Given the description of an element on the screen output the (x, y) to click on. 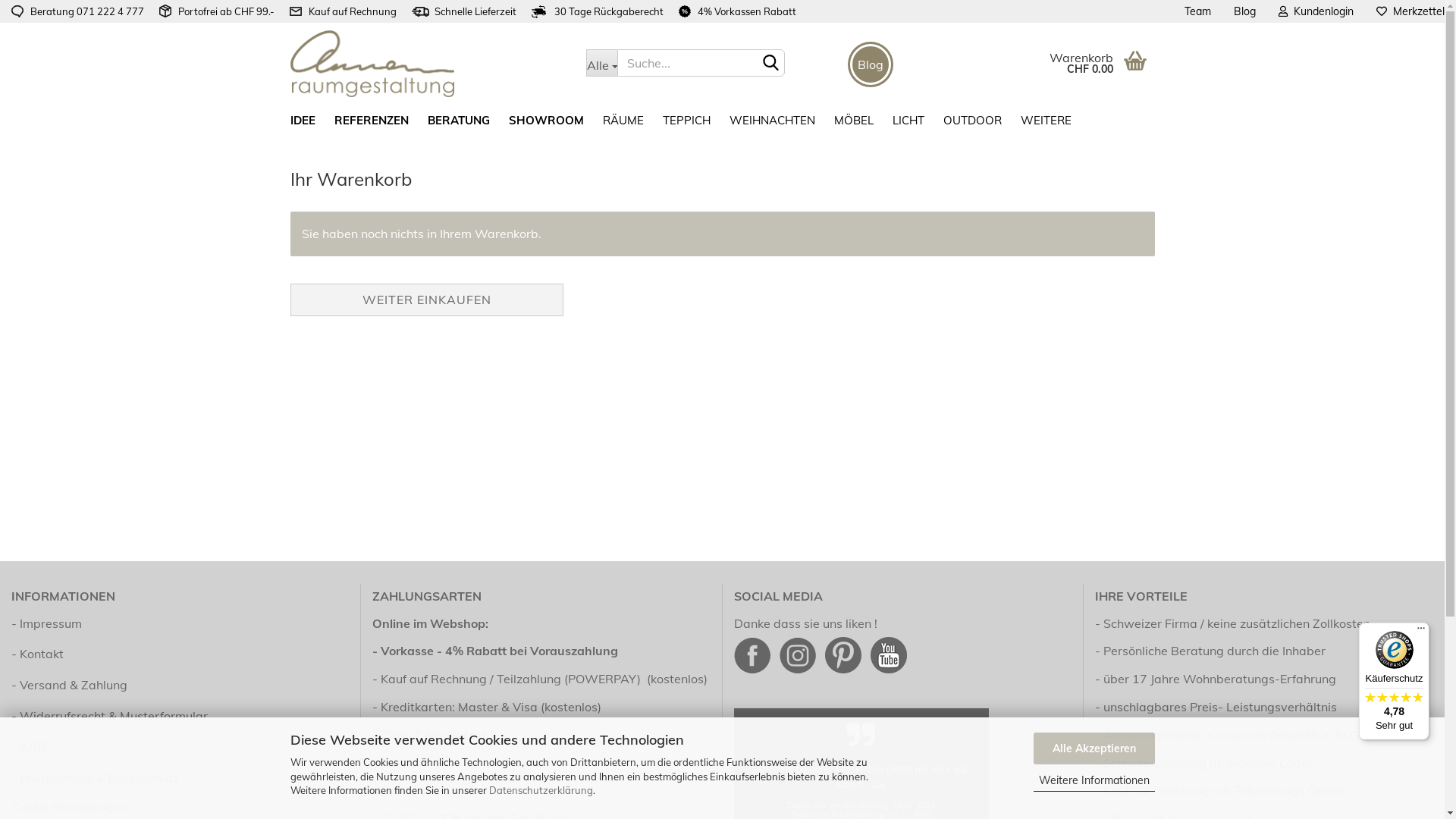
Instagram Element type: hover (797, 653)
Blog Element type: text (870, 64)
- Versand & Zahlung Element type: text (179, 685)
Youtube Element type: hover (888, 653)
Schnelle Lieferung ab eigenem Lager Element type: text (1207, 762)
Team Element type: text (1197, 11)
LICHT Element type: text (906, 119)
(POWERPAY) Element type: text (602, 678)
Kauf auf Rechnung mit Teilzahlungs Option Element type: text (1224, 789)
WEITER EINKAUFEN Element type: text (425, 299)
Alle Element type: text (600, 62)
WEIHNACHTEN Element type: text (769, 119)
- Kontakt Element type: text (179, 654)
IDEE Element type: text (301, 119)
WEITERE Element type: text (1043, 119)
- Impressum Element type: text (179, 623)
Pinterest Element type: hover (843, 653)
OUTDOOR Element type: text (969, 119)
ammann raumgestaltung Element type: hover (425, 63)
 Kundenlogin Element type: text (1316, 11)
071 222 4 777 Element type: text (110, 11)
Alle Akzeptieren Element type: text (1093, 748)
Warenkorb
CHF 0.00 Element type: text (1055, 52)
Weitere Informationen Element type: text (1093, 780)
- AGB Element type: text (179, 747)
BERATUNG Element type: text (455, 119)
TEPPICH Element type: text (683, 119)
- Widerrufsrecht & Musterformular Element type: text (179, 716)
REFERENZEN Element type: text (369, 119)
Blog Element type: text (1244, 11)
Anmelden Element type: text (1233, 191)
Facebook Element type: hover (752, 653)
SHOWROOM Element type: text (544, 119)
